Given the description of an element on the screen output the (x, y) to click on. 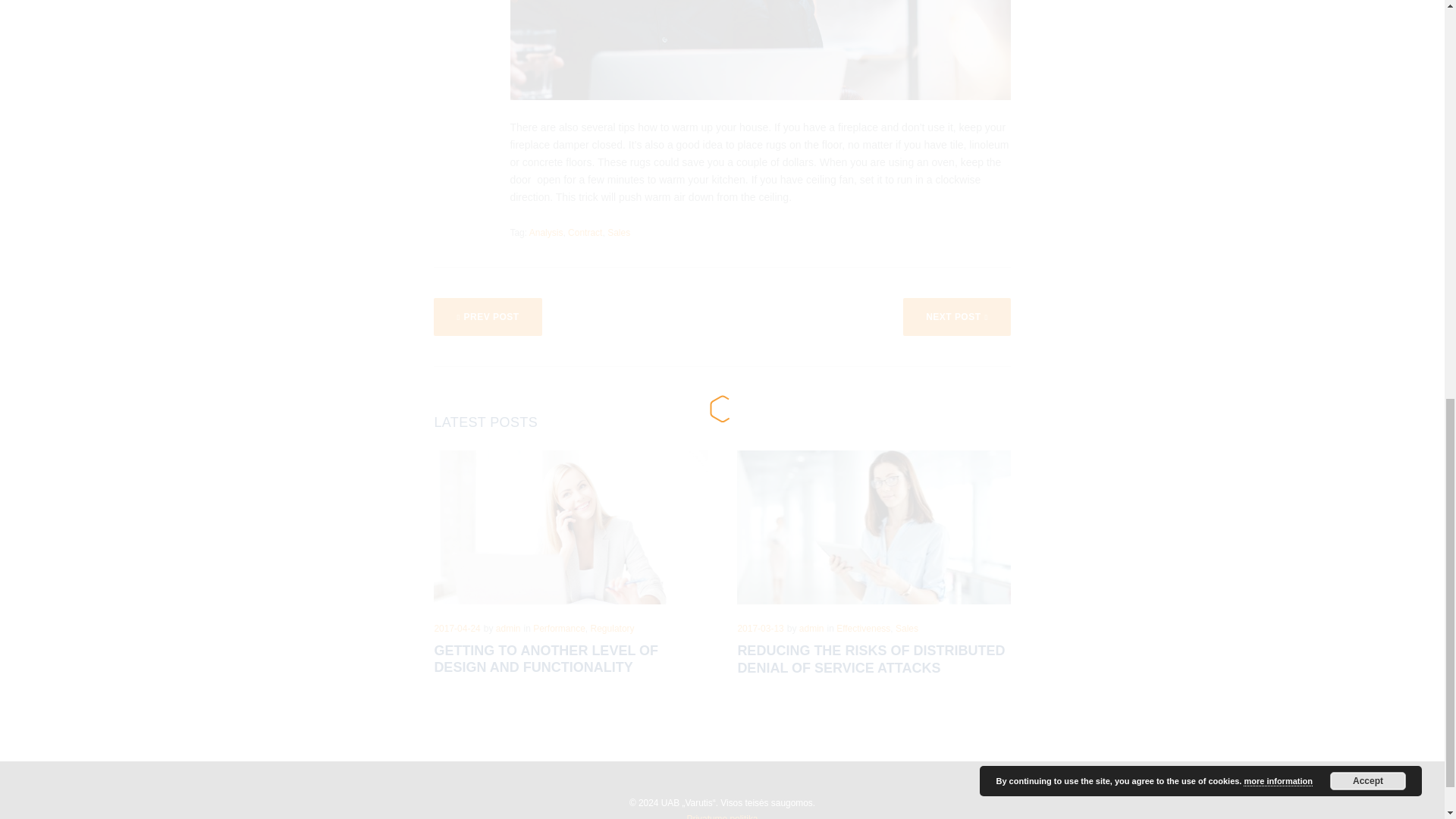
Reducing the Risks of Distributed Denial of Service Attacks (870, 658)
Sales (618, 232)
Privatumo politika (722, 816)
2017-03-13 (759, 628)
admin (811, 628)
Analysis (546, 232)
Regulatory (612, 628)
Effectiveness (862, 628)
Contract (584, 232)
NEXT POST (956, 316)
